Given the description of an element on the screen output the (x, y) to click on. 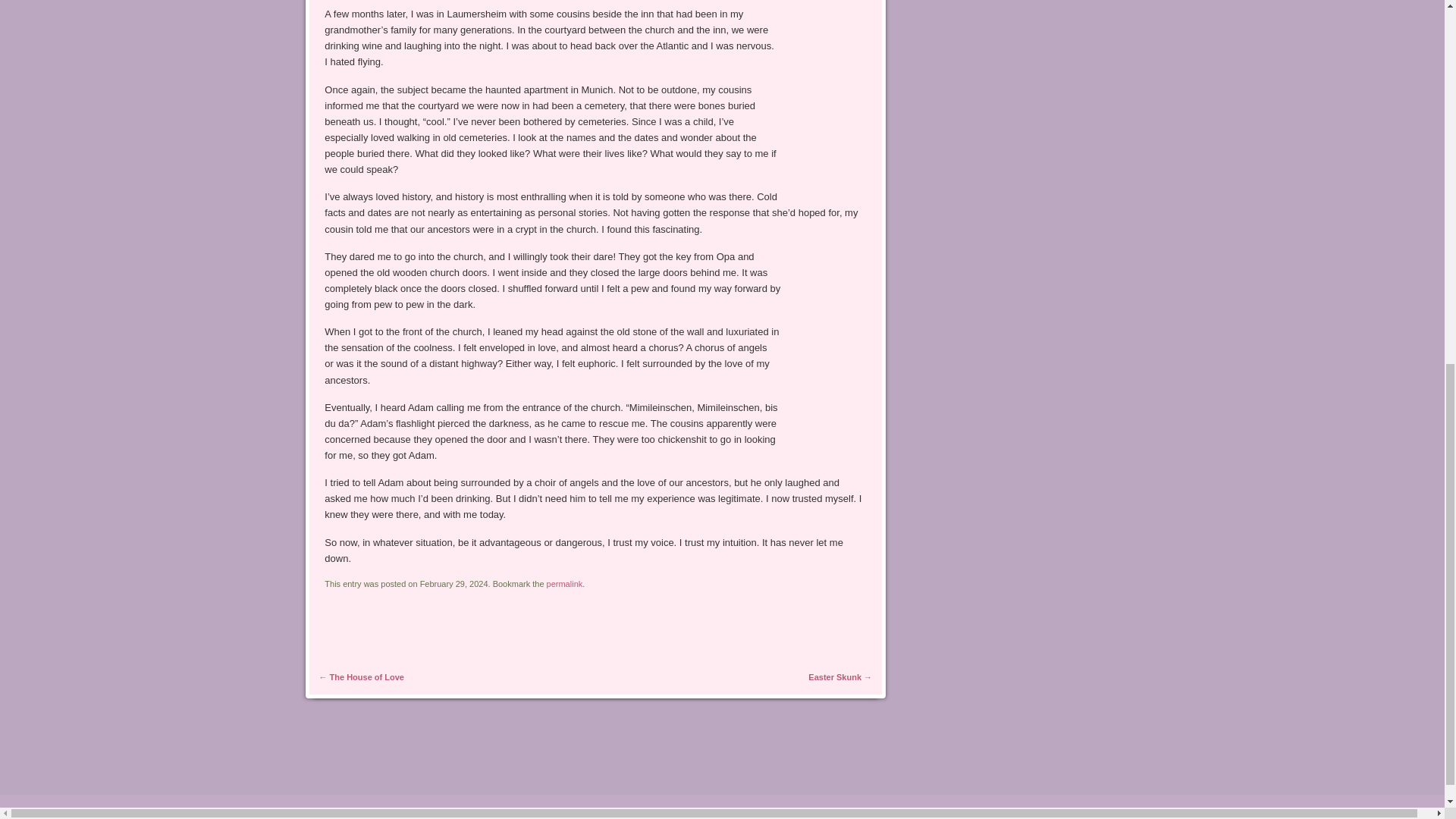
Permalink to Intuition (565, 583)
Proudly powered by WordPress (108, 810)
Semantic Personal Publishing Platform (108, 810)
WordPress.com (277, 810)
permalink (565, 583)
